Given the description of an element on the screen output the (x, y) to click on. 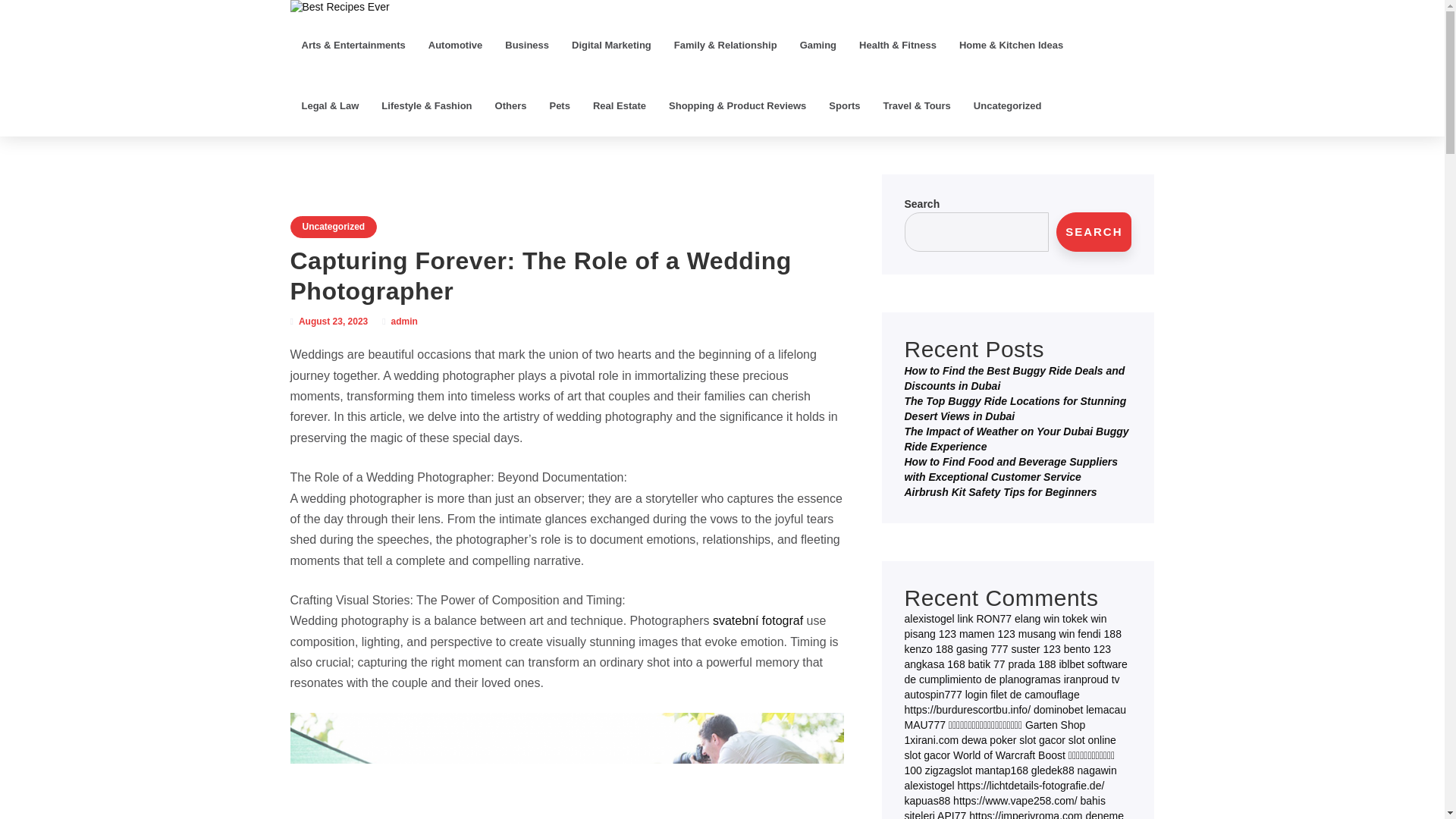
Airbrush Kit Safety Tips for Beginners (1000, 491)
gasing 777 (982, 648)
link RON77 (984, 618)
The Impact of Weather on Your Dubai Buggy Ride Experience (1016, 438)
Automotive (455, 45)
How to Find the Best Buggy Ride Deals and Discounts in Dubai (1014, 378)
musang win (1046, 633)
Gaming (818, 45)
Others (510, 106)
kenzo 188 (928, 648)
pisang 123 (930, 633)
admin (404, 321)
Gaming (818, 45)
